Given the description of an element on the screen output the (x, y) to click on. 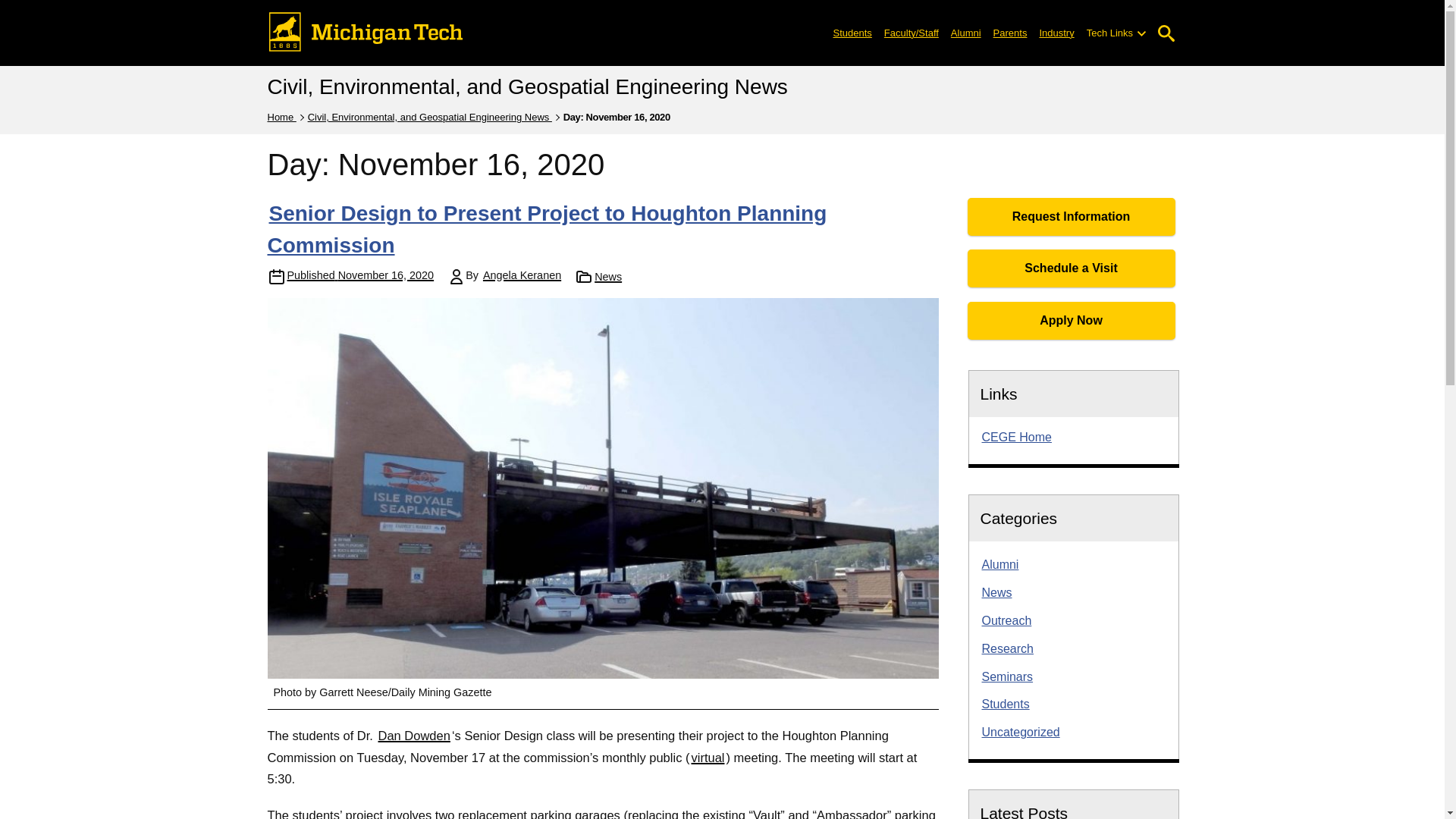
Civil, Environmental, and Geospatial Engineering News (526, 86)
Open Search (1166, 33)
Home (280, 116)
Parents (1010, 32)
Civil and Environmental Engineering Home (1015, 436)
Civil, Environmental, and Geospatial Engineering News (429, 116)
Students (852, 32)
Published November 16, 2020 (360, 275)
Alumni (965, 32)
Industry (1056, 32)
